Given the description of an element on the screen output the (x, y) to click on. 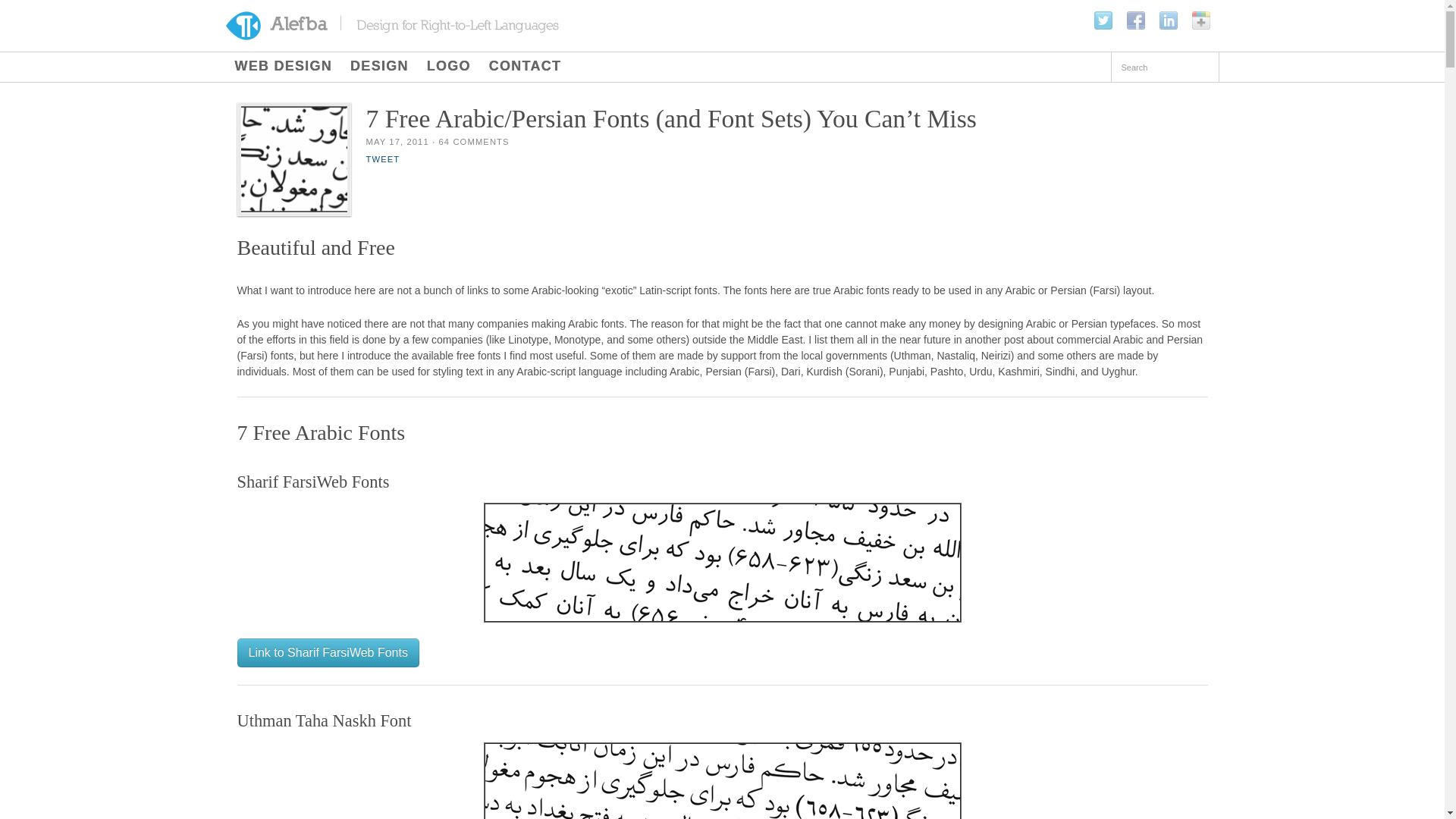
LOGO (448, 66)
WEB DESIGN (283, 66)
DESIGN (378, 66)
Link to Sharif FarsiWeb Fonts (327, 652)
Sharif FarsiWeb Fonts (327, 652)
uthman (721, 780)
CONTACT (525, 66)
TWEET (381, 158)
roya (721, 562)
64 COMMENTS (473, 141)
